Given the description of an element on the screen output the (x, y) to click on. 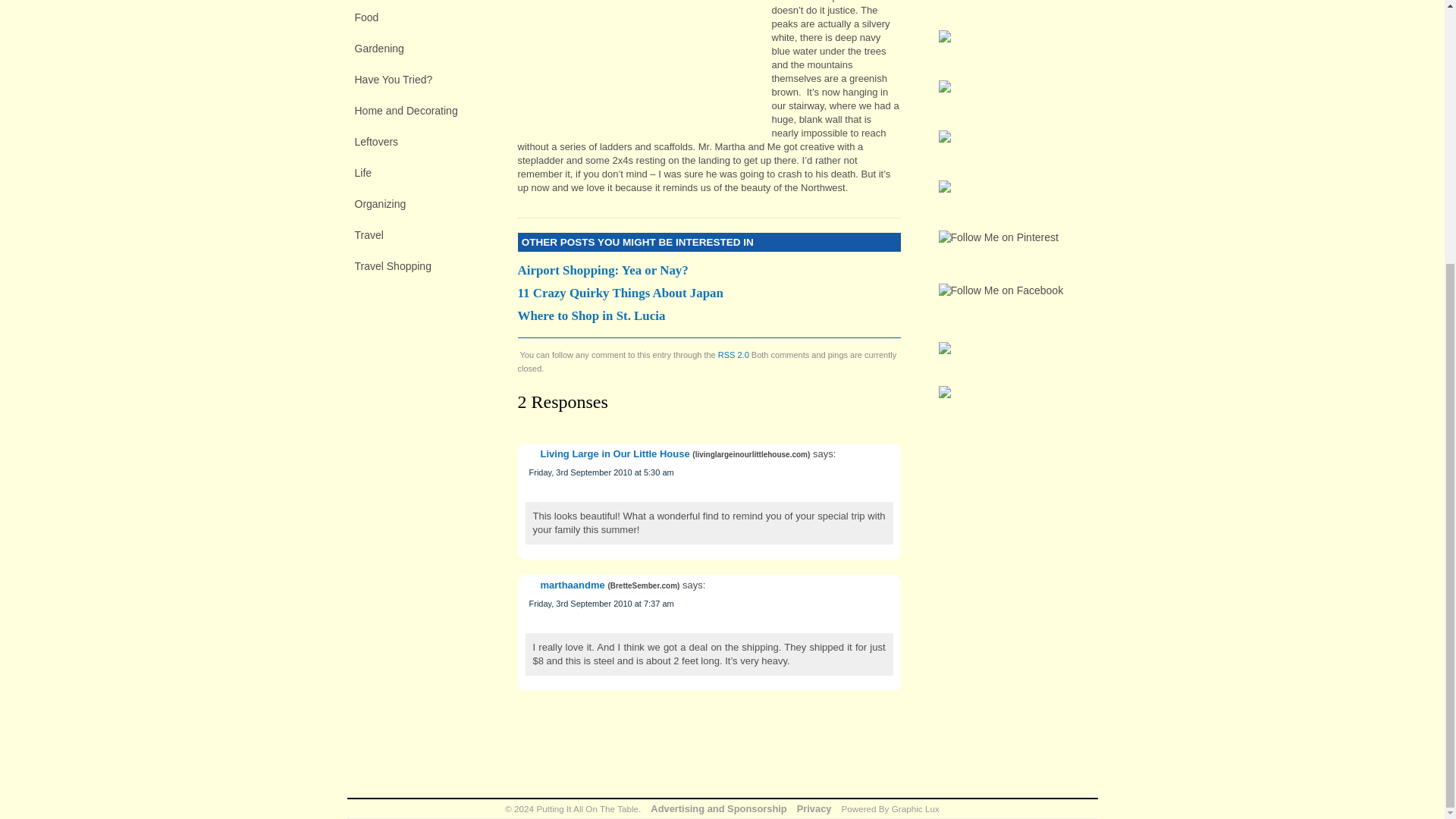
Airport Shopping: Yea or Nay? (707, 270)
marthaandme (572, 584)
Life (425, 172)
Where to Shop in St. Lucia (707, 315)
Travel (425, 234)
BretteSember.com (643, 585)
RSS 2.0 (733, 354)
Leftovers (425, 141)
Friday, 3rd September 2010 at 7:37 am (601, 603)
metal sculpture (638, 62)
